Given the description of an element on the screen output the (x, y) to click on. 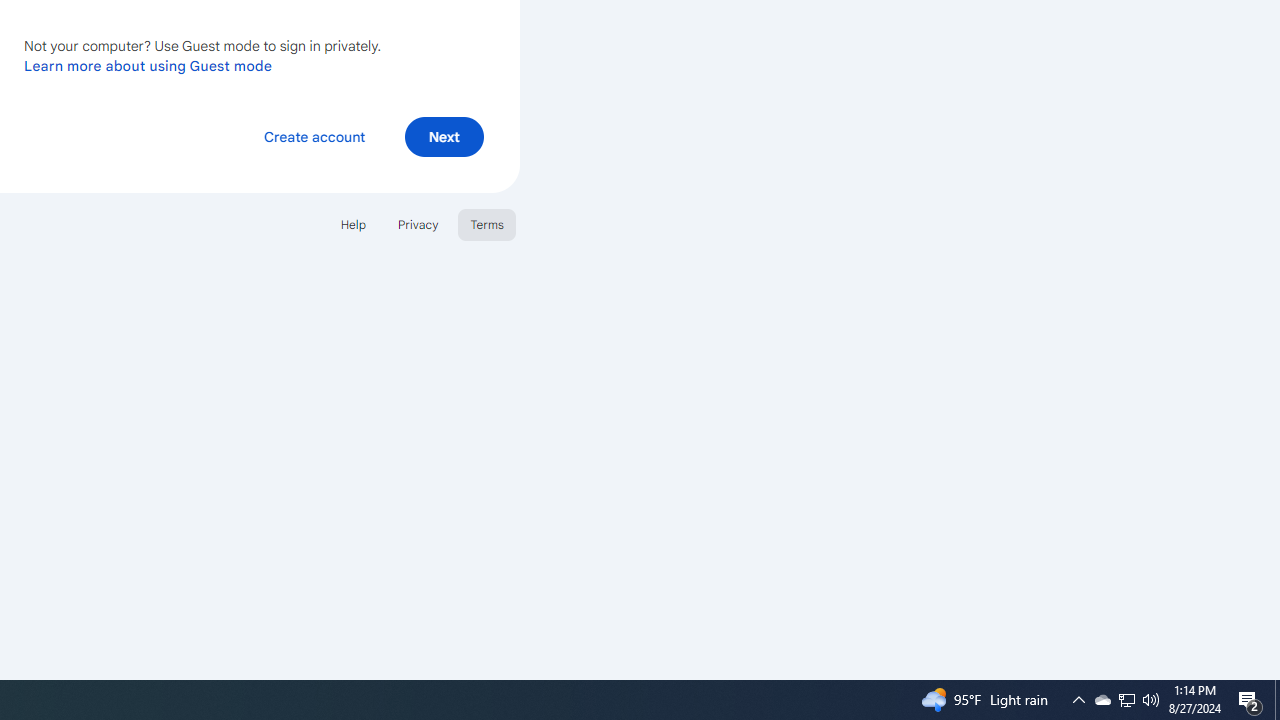
Next (443, 135)
Create account (314, 135)
Help (352, 224)
Privacy (417, 224)
Learn more about using Guest mode (148, 65)
